Given the description of an element on the screen output the (x, y) to click on. 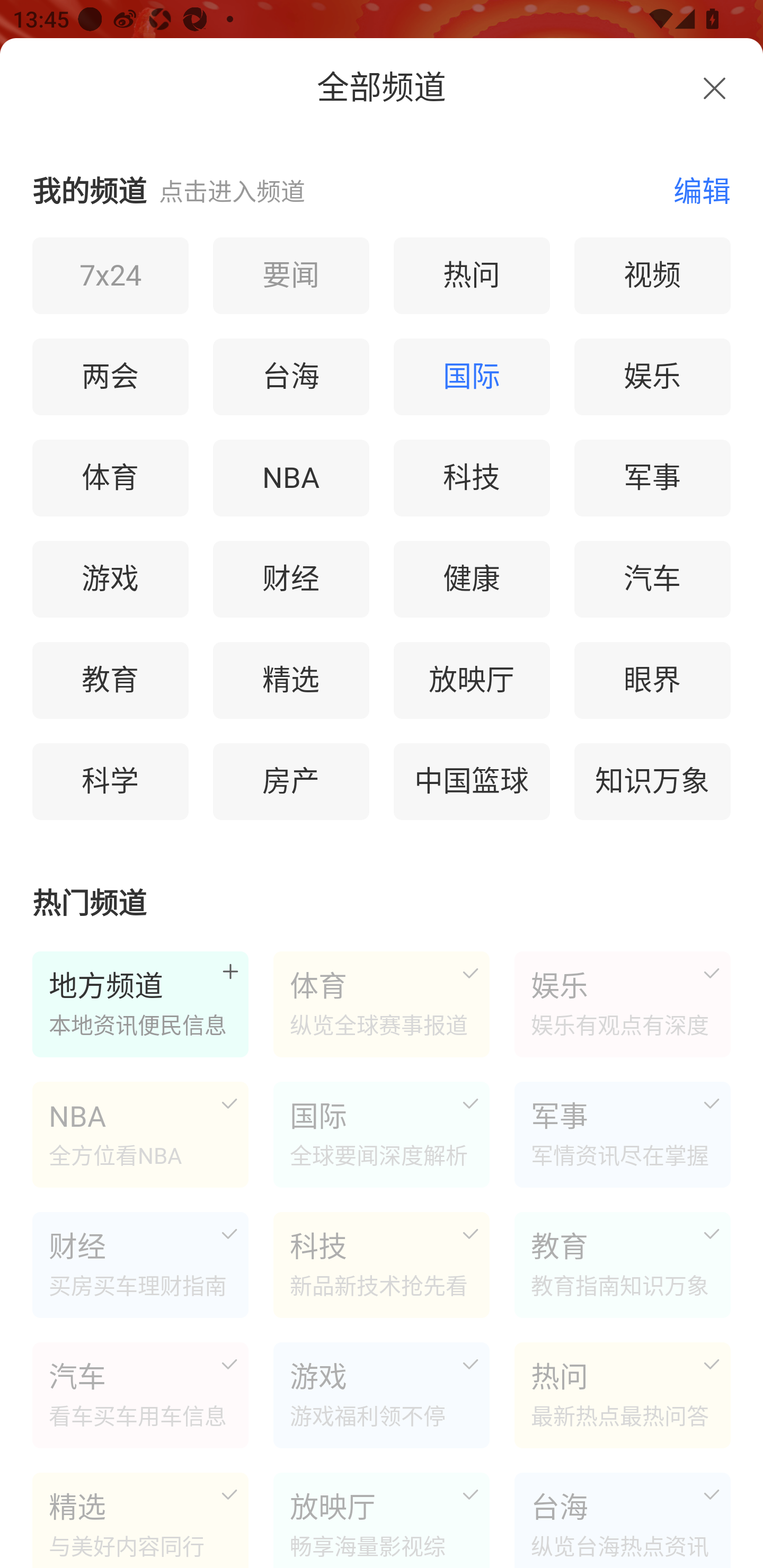
 (714, 87)
编辑 (691, 190)
